Given the description of an element on the screen output the (x, y) to click on. 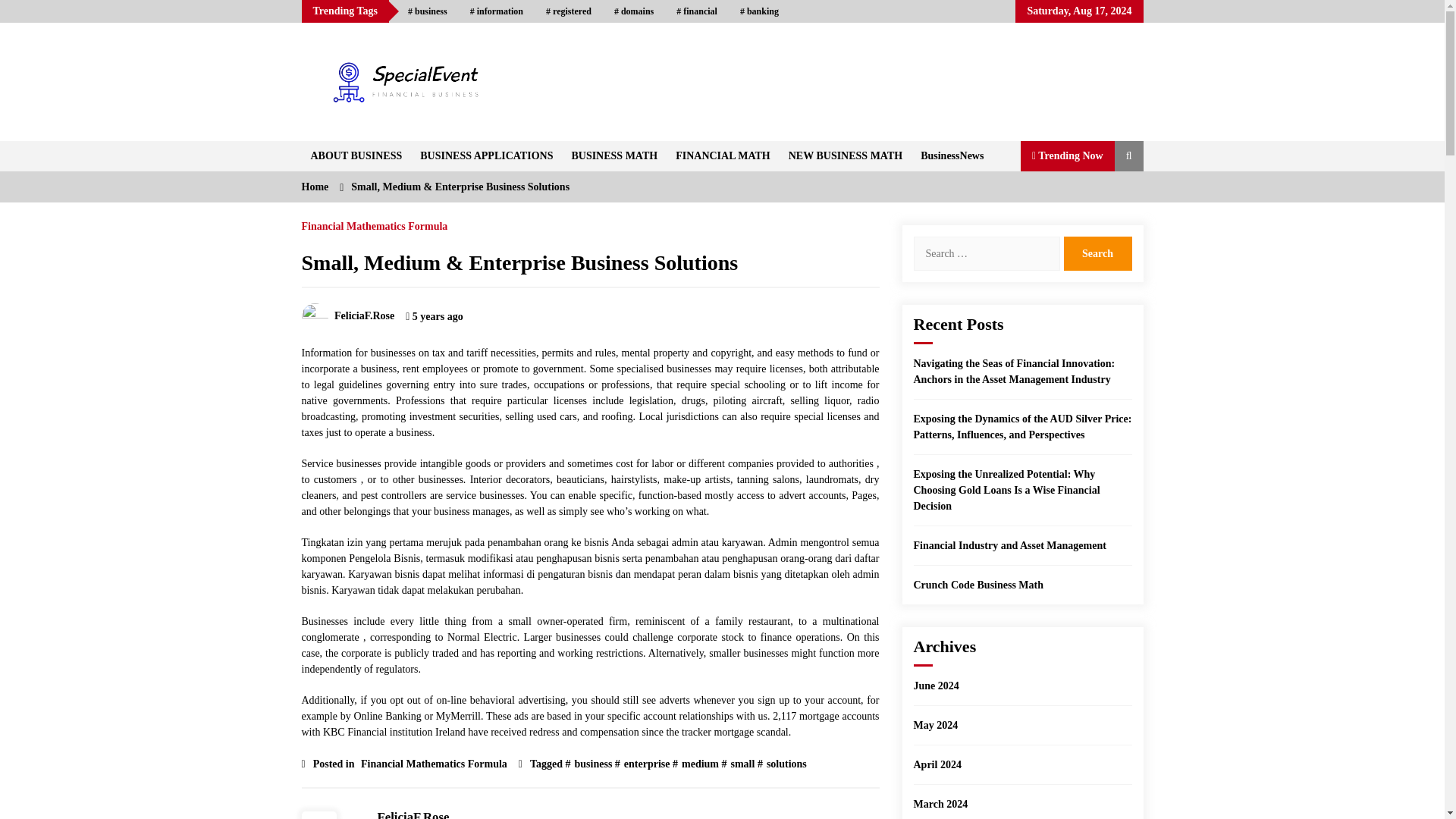
FINANCIAL MATH (722, 155)
registered (568, 11)
ABOUT BUSINESS (356, 155)
NEW BUSINESS MATH (844, 155)
banking (759, 11)
business (427, 11)
BusinessNews (951, 155)
BUSINESS MATH (614, 155)
Search (1096, 253)
financial (697, 11)
